Given the description of an element on the screen output the (x, y) to click on. 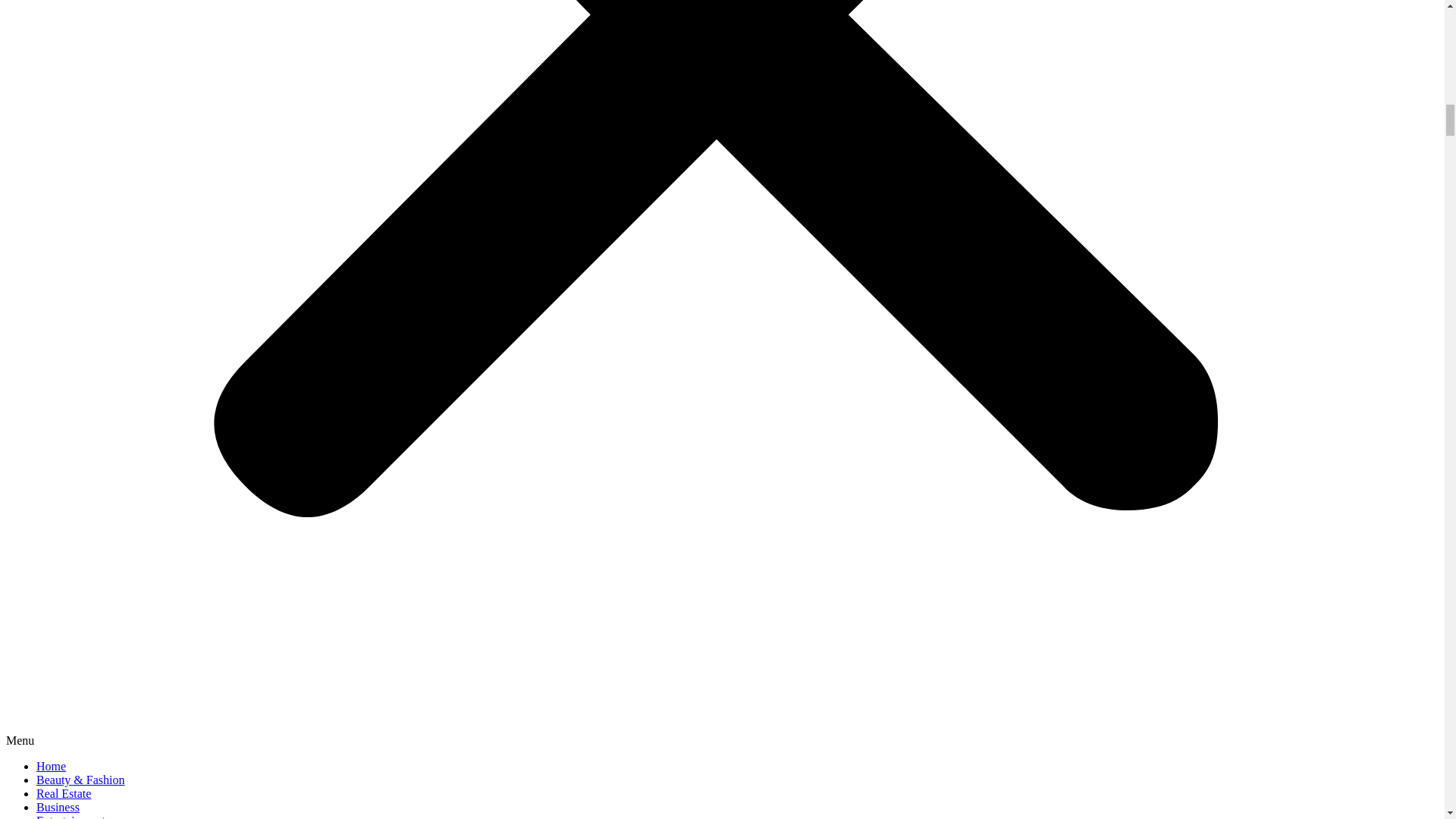
Business (58, 807)
Real Estate (63, 793)
Home (50, 766)
Entertainment (70, 816)
